Given the description of an element on the screen output the (x, y) to click on. 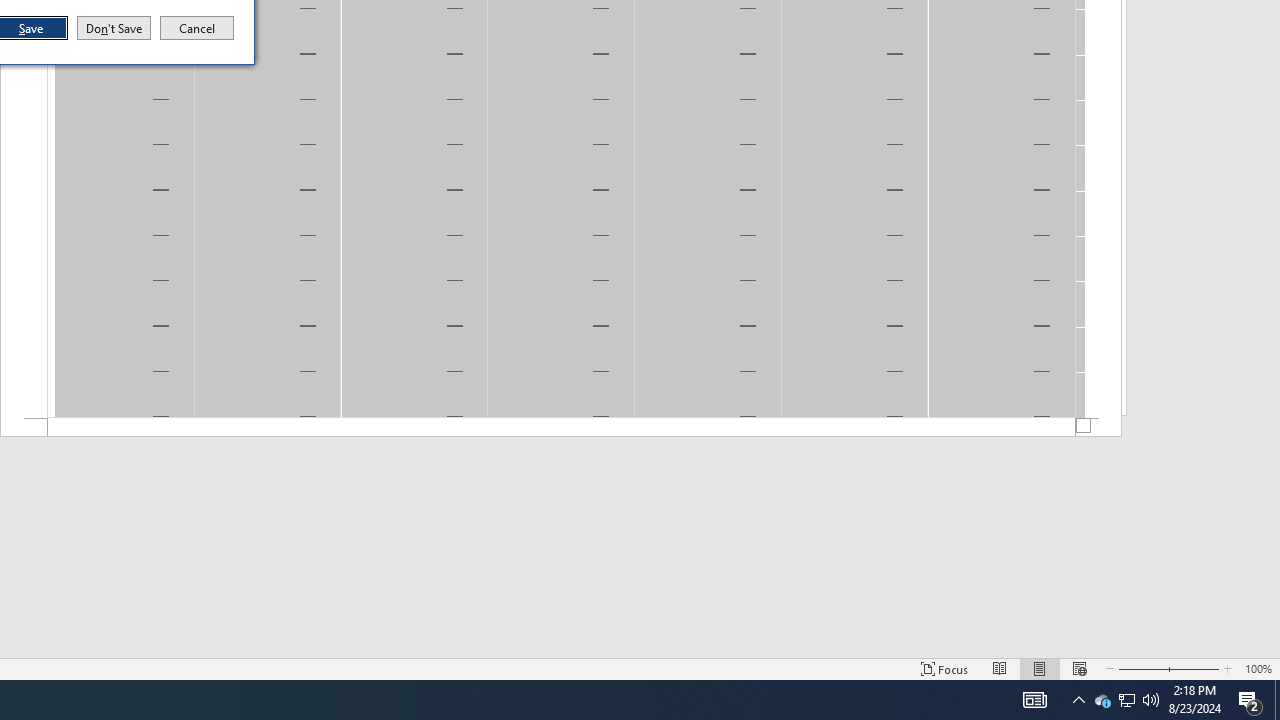
Show desktop (1277, 699)
Footer -Section 1- (561, 427)
Don't Save (113, 27)
Cancel (197, 27)
Read Mode (1000, 668)
User Promoted Notification Area (1126, 699)
